Given the description of an element on the screen output the (x, y) to click on. 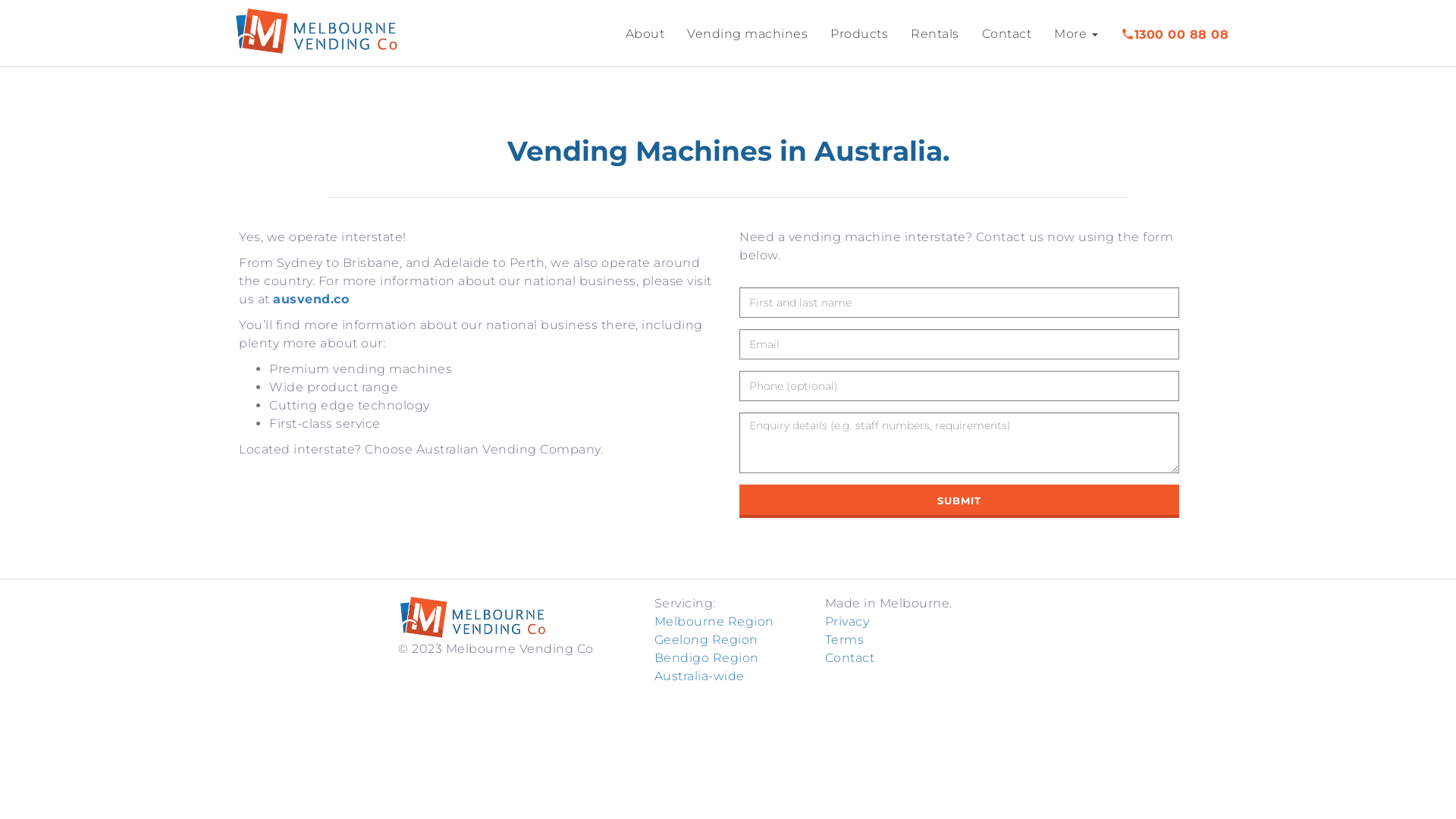
Contact Element type: text (850, 657)
Terms Element type: text (844, 639)
Melbourne Region Element type: text (713, 621)
Products Element type: text (859, 34)
Bendigo Region Element type: text (705, 657)
About Element type: text (644, 34)
Contact Element type: text (1006, 34)
Vending machines Element type: text (747, 34)
ausvend.co Element type: text (310, 298)
Privacy Element type: text (847, 621)
SUBMIT Element type: text (959, 501)
Australia-wide Element type: text (698, 675)
Rentals Element type: text (934, 34)
local_phone1300 00 88 08 Element type: text (1174, 33)
More Element type: text (1076, 34)
Geelong Region Element type: text (705, 639)
